Given the description of an element on the screen output the (x, y) to click on. 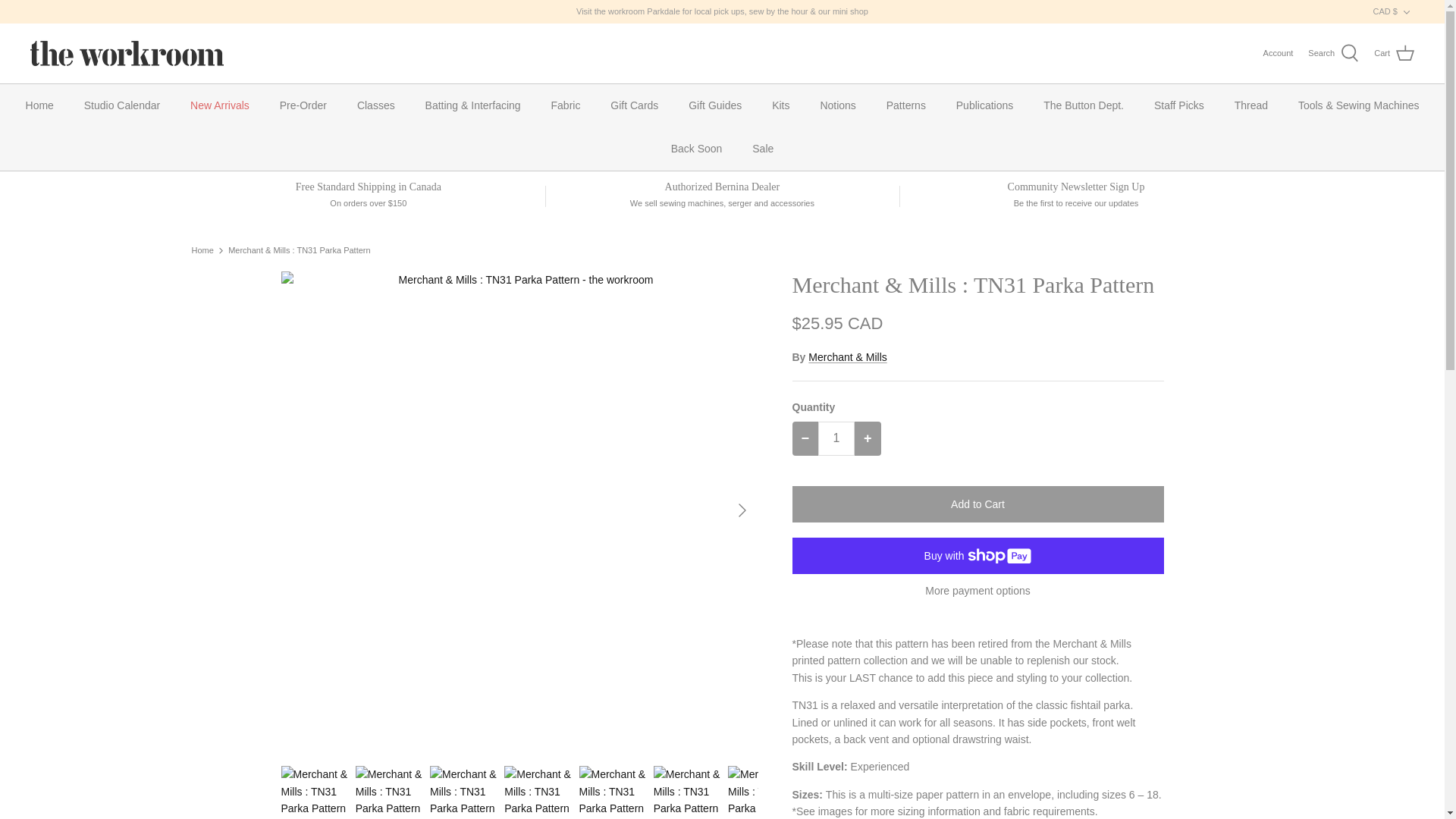
the workroom (127, 52)
Right (741, 509)
1 (836, 438)
Down (1406, 11)
